Given the description of an element on the screen output the (x, y) to click on. 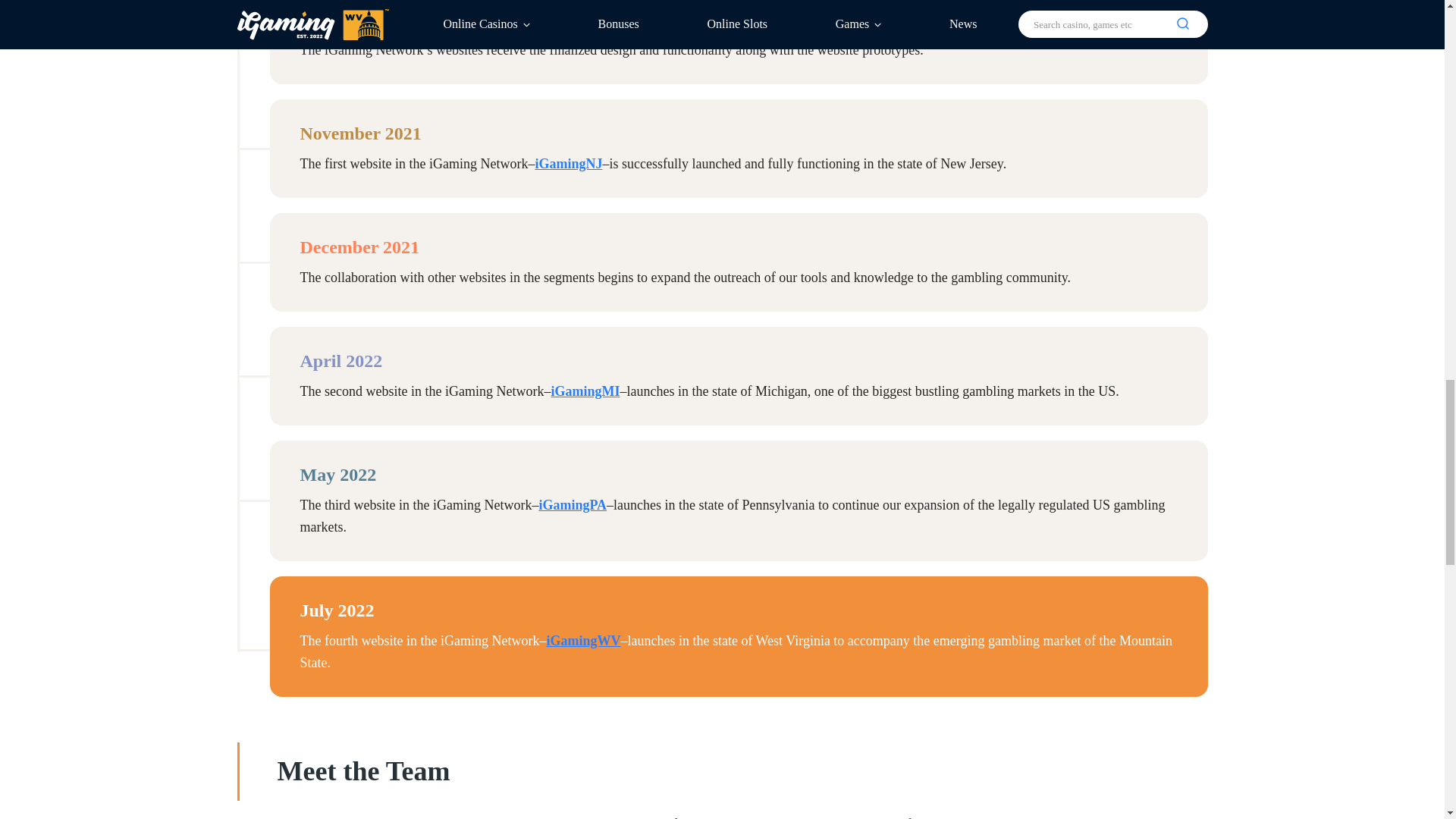
iGamingNJ (568, 163)
